Given the description of an element on the screen output the (x, y) to click on. 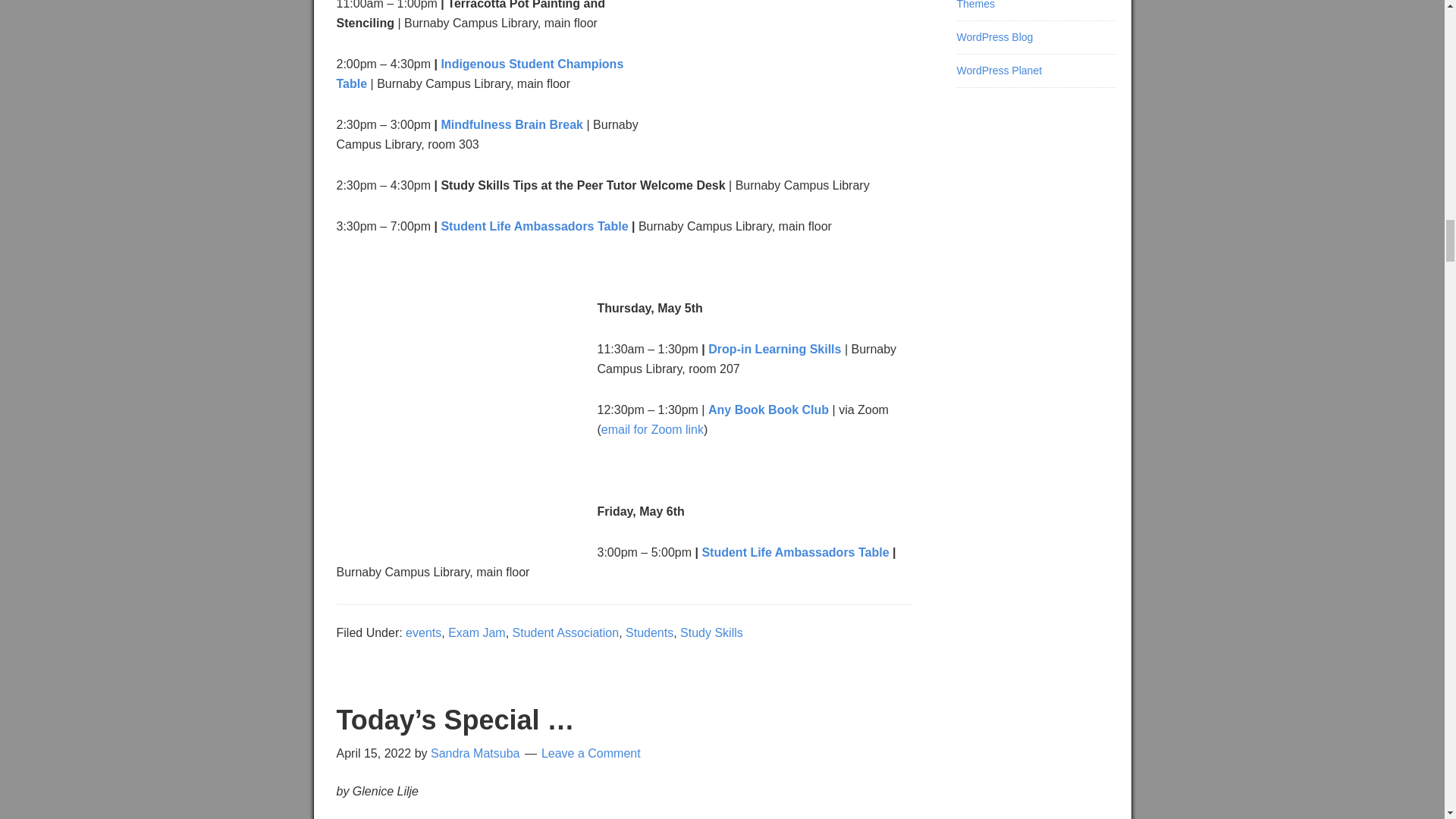
Student Life Ambassadors Table (794, 552)
Any Book Book Club (767, 409)
events (423, 632)
Drop-in Learning Skills (774, 349)
Student Life Ambassadors Table (534, 226)
email for Zoom link (652, 429)
Mindfulness Brain Break (512, 124)
Indigenous Student Champions Table (480, 73)
